Given the description of an element on the screen output the (x, y) to click on. 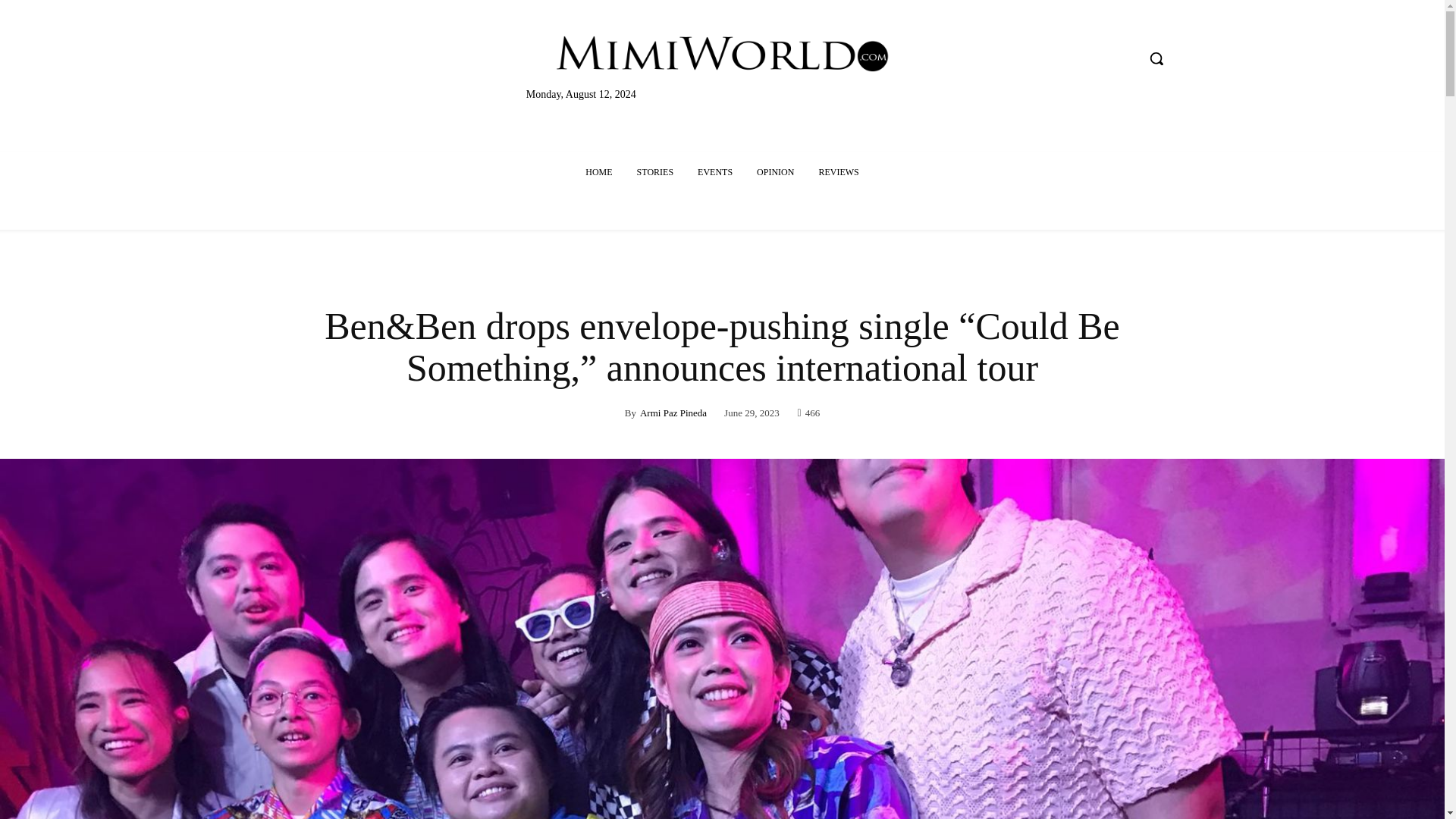
OPINION (775, 172)
Armi Paz Pineda (673, 412)
STORIES (654, 172)
REVIEWS (838, 172)
HOME (598, 172)
EVENTS (714, 172)
